Given the description of an element on the screen output the (x, y) to click on. 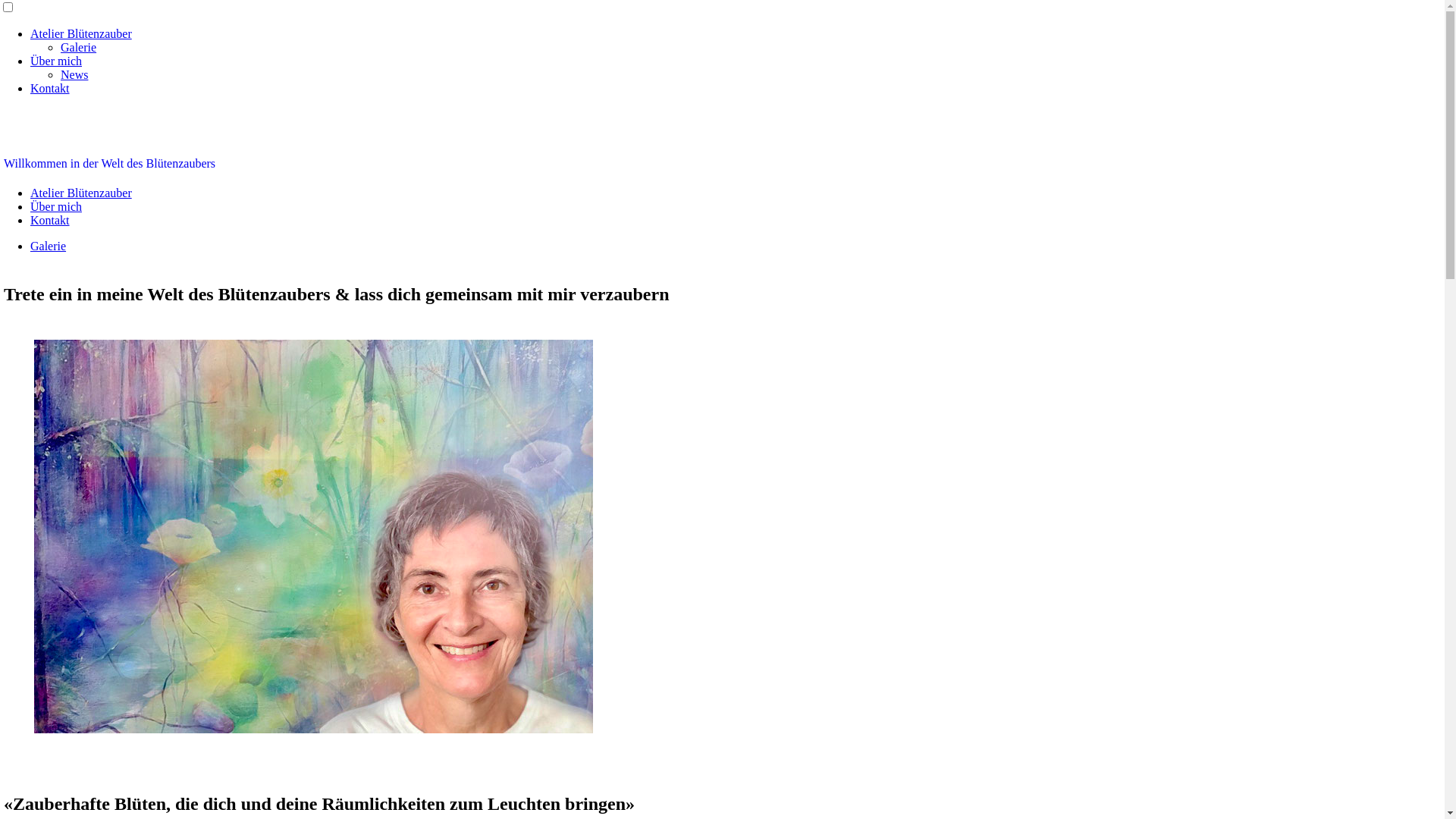
Galerie Element type: text (78, 46)
Kontakt Element type: text (49, 219)
News Element type: text (73, 74)
Kontakt Element type: text (49, 87)
Galerie Element type: text (47, 245)
